Given the description of an element on the screen output the (x, y) to click on. 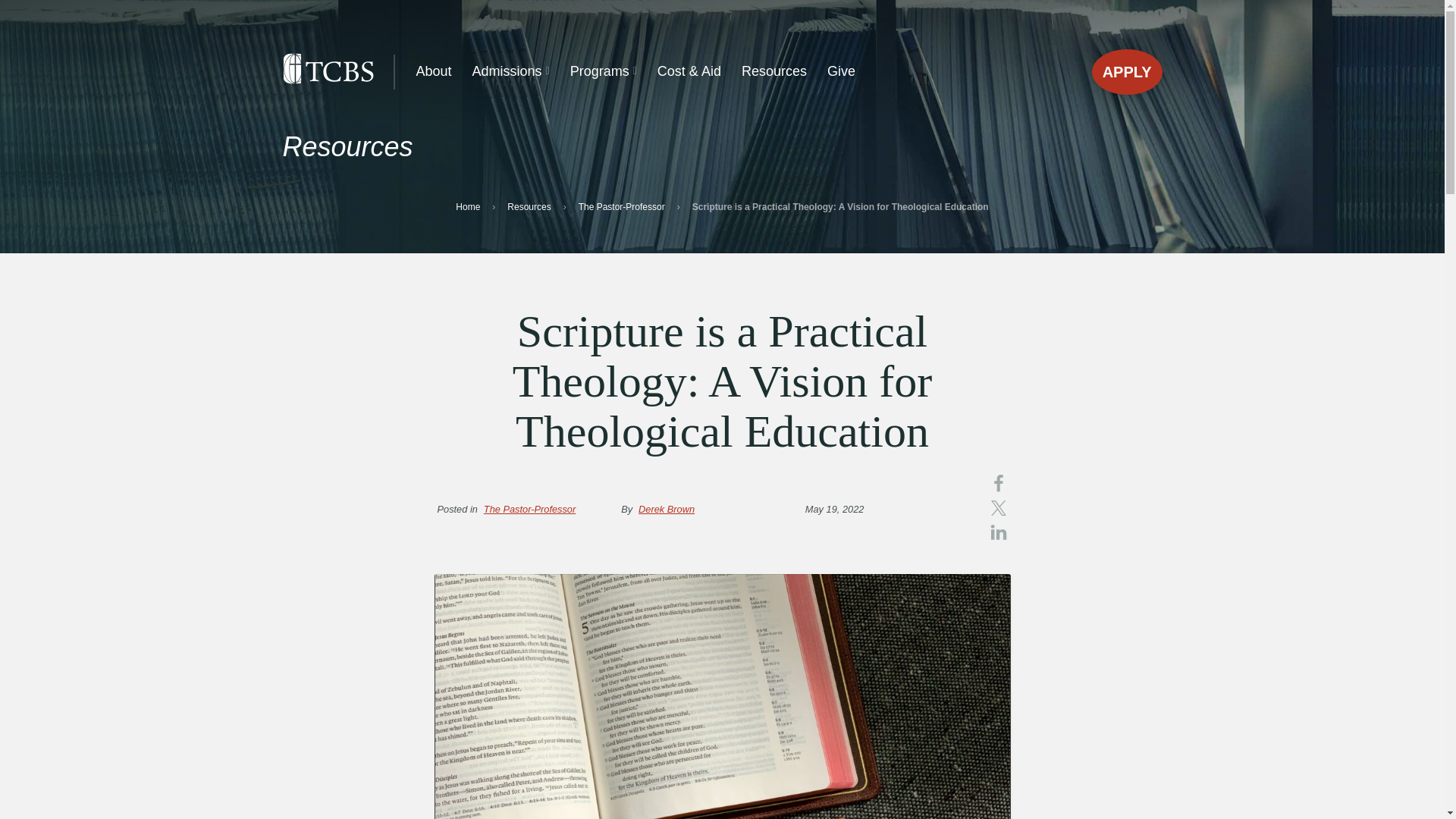
Share on Facebook (998, 483)
Give (840, 71)
Share on LinkedIn (998, 532)
About (433, 71)
Share on Twitter (998, 508)
TCBS logo (327, 68)
APPLY (1126, 72)
Home (467, 206)
Admissions (511, 71)
Programs (603, 71)
Resources (774, 71)
